Given the description of an element on the screen output the (x, y) to click on. 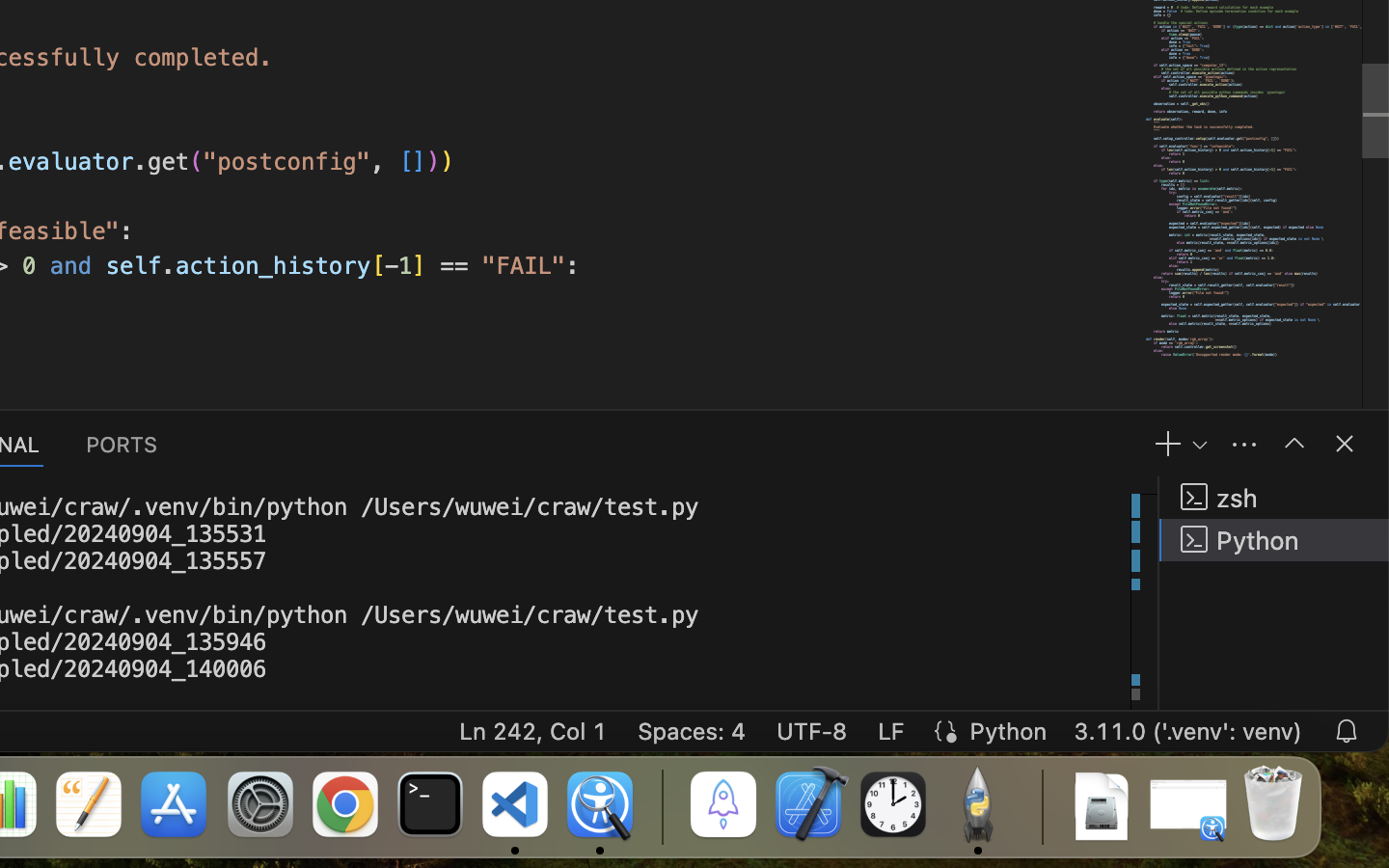
0 PORTS Element type: AXRadioButton (122, 443)
